Given the description of an element on the screen output the (x, y) to click on. 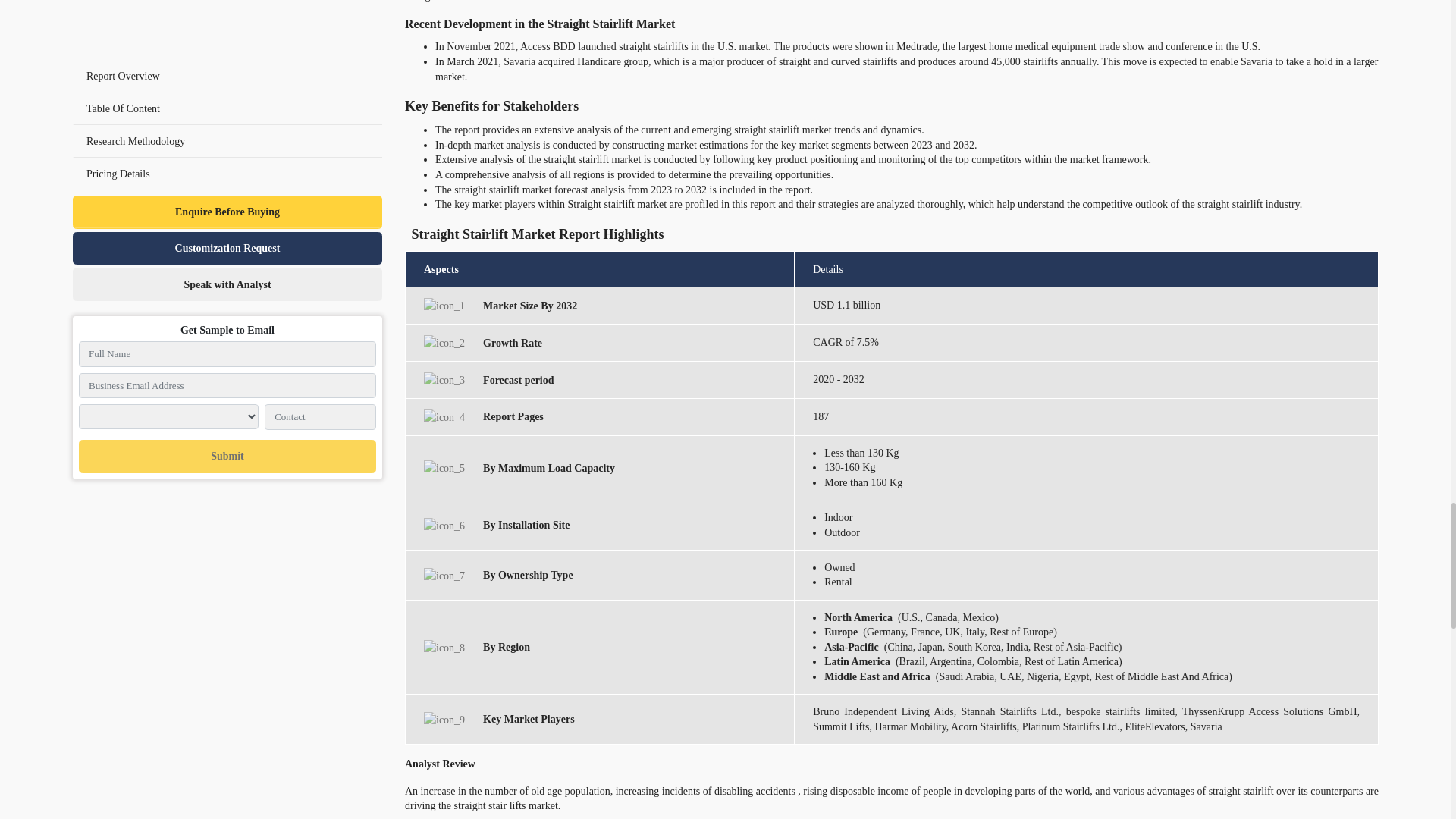
Key Market Players (443, 719)
Straight Stairlift Market By Region (443, 647)
Straight Stairlift Market By Maximum Load Capacity (443, 467)
Forecast period (443, 380)
Market Size By 2032 (443, 305)
Straight Stairlift Market By Installation Site (443, 525)
Growth Rate (443, 342)
Straight Stairlift Market By Ownership Type (443, 575)
Report Pages (443, 417)
